Given the description of an element on the screen output the (x, y) to click on. 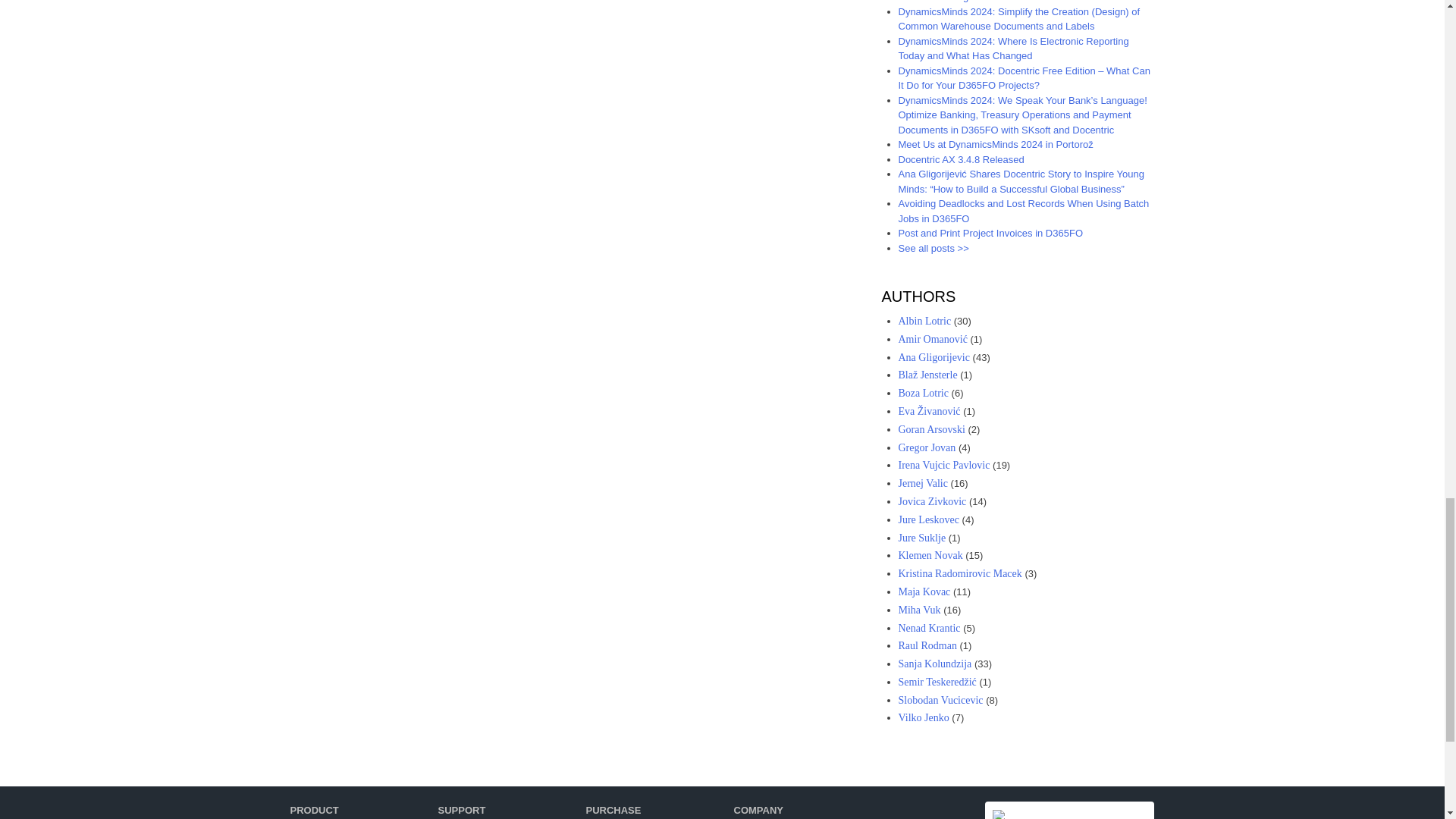
Posts by Irena Vujcic Pavlovic (944, 464)
Posts by Gregor Jovan (926, 447)
Posts by Ana Gligorijevic (933, 357)
Posts by Goran Arsovski (930, 429)
Posts by Albin Lotric (924, 320)
Posts by Boza Lotric (922, 392)
